Given the description of an element on the screen output the (x, y) to click on. 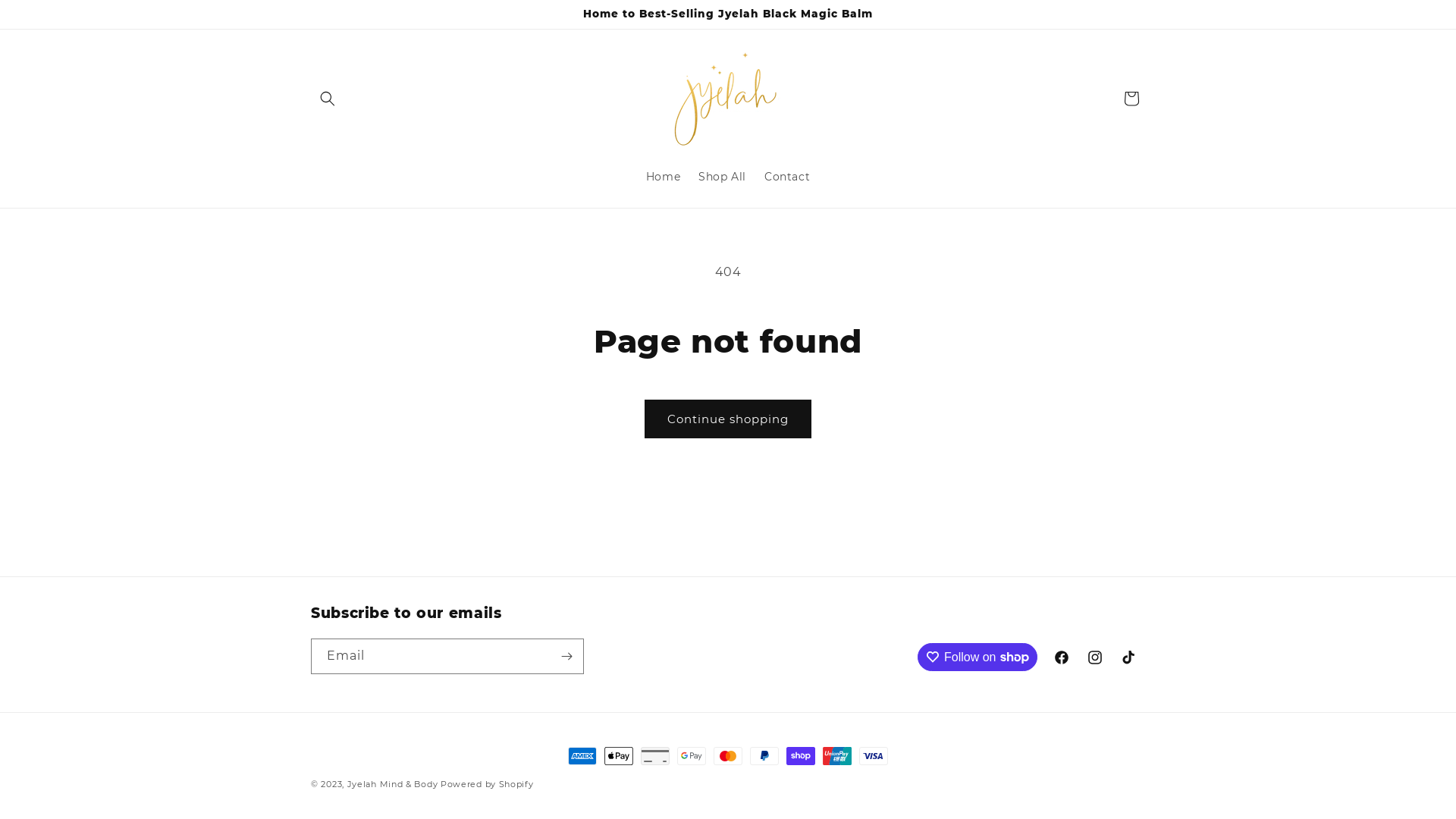
Facebook Element type: text (1061, 657)
Jyelah Mind & Body Element type: text (393, 783)
Powered by Shopify Element type: text (486, 783)
Shop All Element type: text (722, 176)
Continue shopping Element type: text (727, 418)
Contact Element type: text (787, 176)
Home Element type: text (663, 176)
Instagram Element type: text (1094, 657)
Cart Element type: text (1131, 98)
TikTok Element type: text (1128, 657)
